Given the description of an element on the screen output the (x, y) to click on. 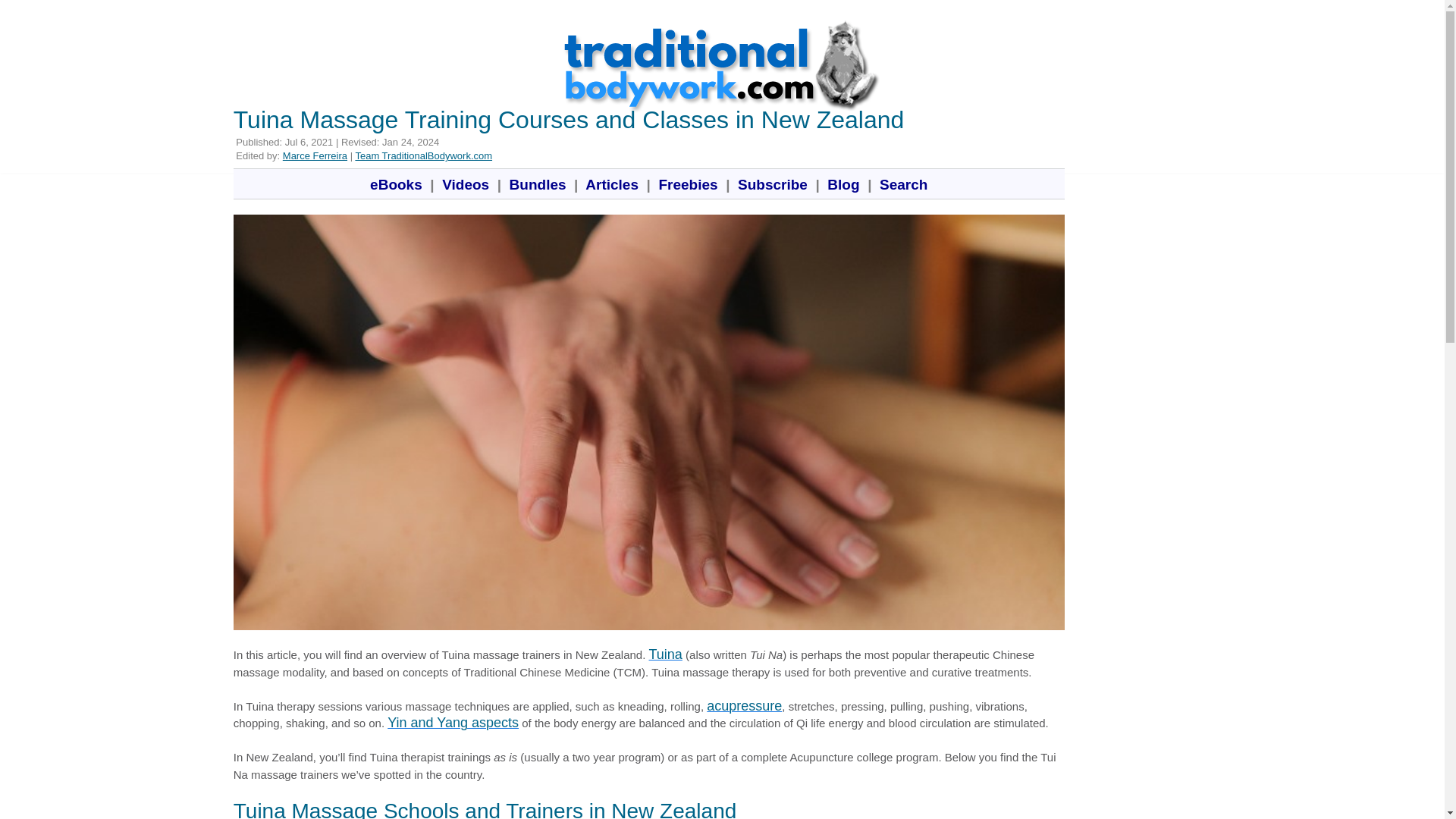
  Subscribe   (772, 184)
Team TraditionalBodywork.com (423, 155)
Marce Ferreira (314, 155)
  Bundles   (536, 184)
  Articles   (612, 184)
  Freebies   (687, 184)
acupressure (743, 705)
  Videos   (465, 184)
  Blog   (843, 184)
